Given the description of an element on the screen output the (x, y) to click on. 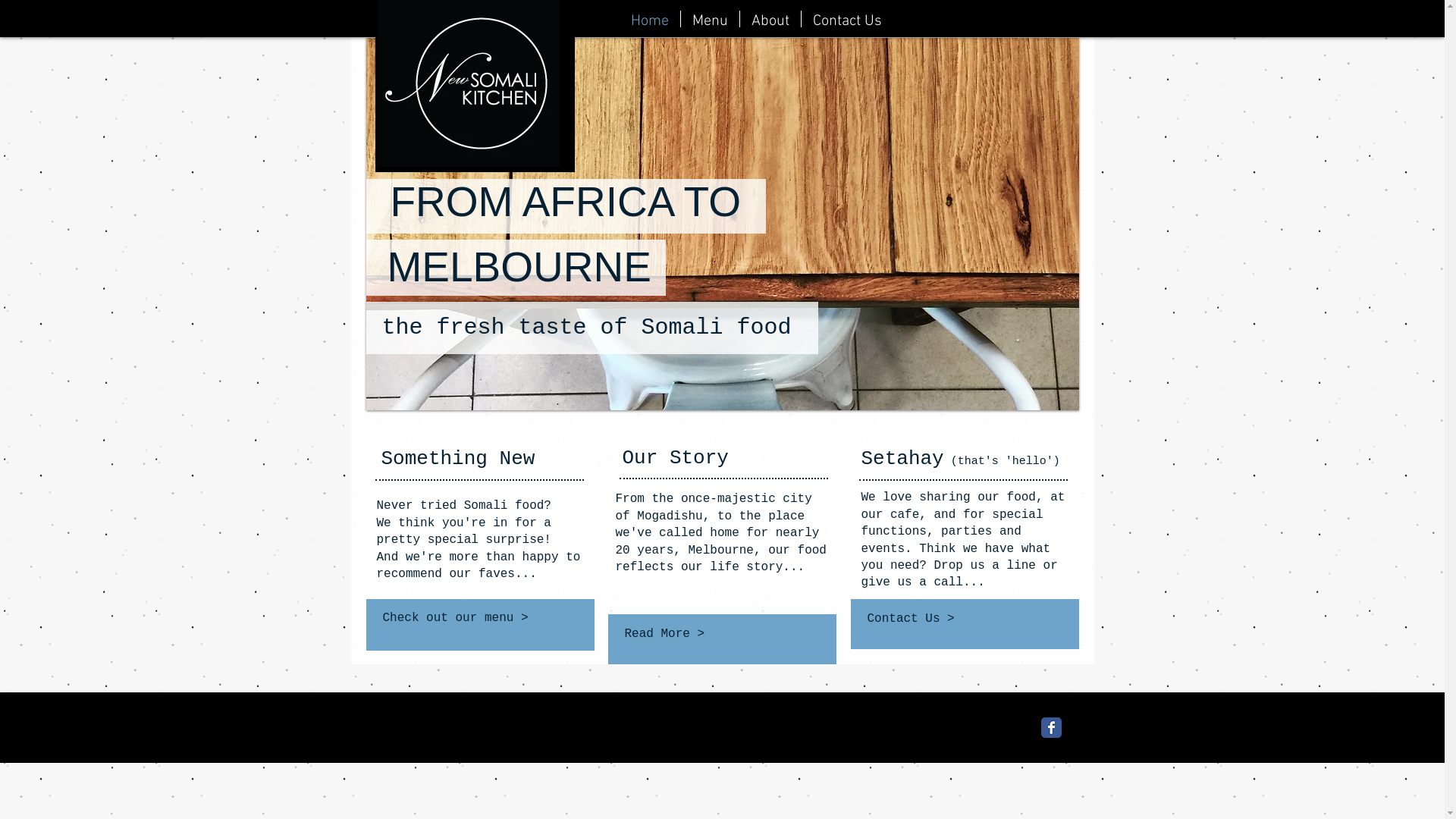
Menu Element type: text (709, 18)
Contact Us > Element type: text (965, 618)
About Element type: text (770, 18)
Home Element type: text (648, 18)
Contact Us Element type: text (846, 18)
Check out our menu > Element type: text (478, 617)
nsk_logo.jpg Element type: hover (468, 83)
Read More > Element type: text (719, 633)
